Given the description of an element on the screen output the (x, y) to click on. 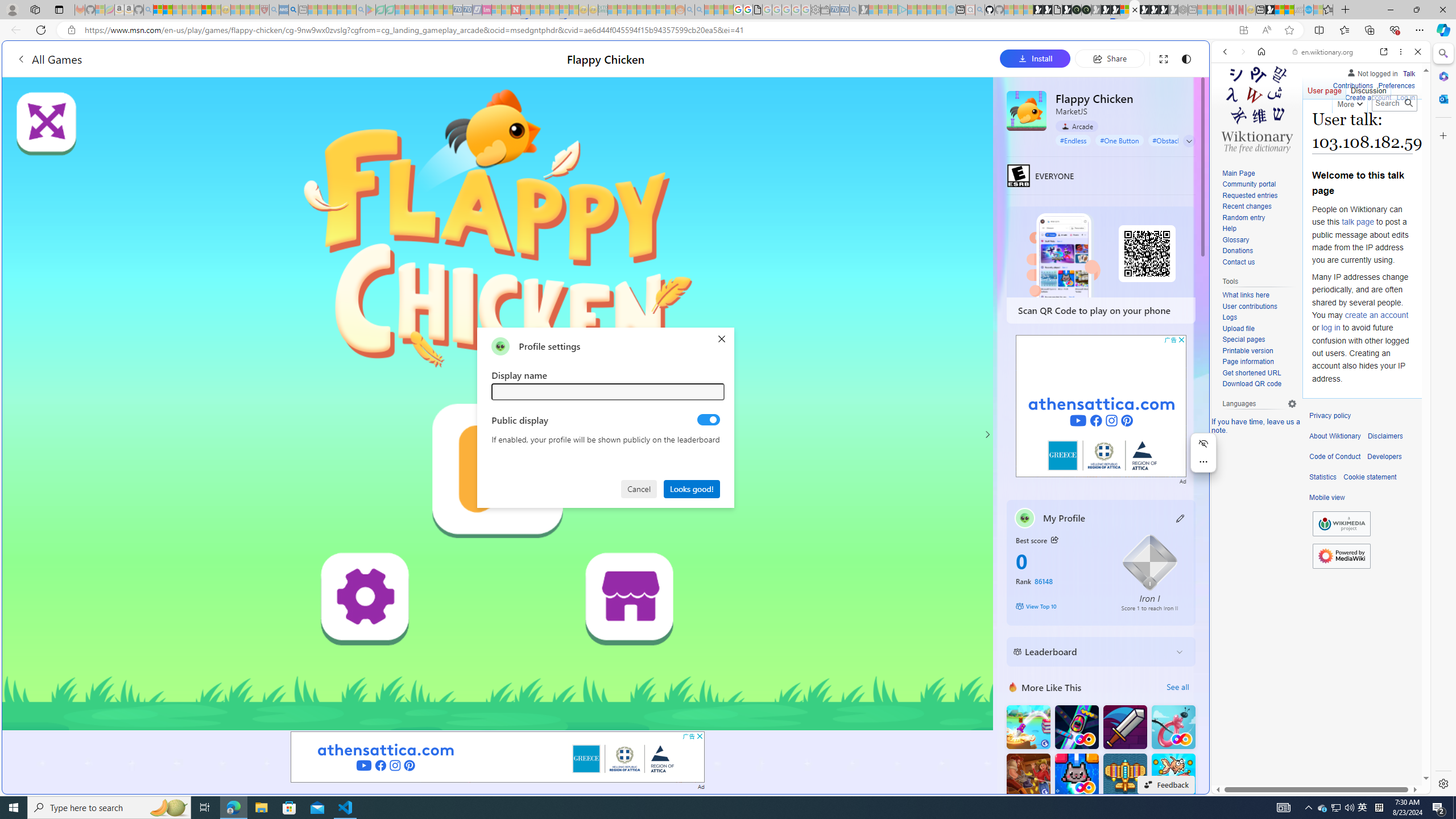
Advertisement (1101, 405)
Logs (1259, 317)
MSN (1269, 9)
Microsoft-Report a Concern to Bing - Sleeping (99, 9)
Tabs you've opened (885, 151)
Go (1408, 102)
Preferences (1396, 85)
Bumper Car FRVR (1076, 726)
Bing Real Estate - Home sales and rental listings - Sleeping (853, 9)
